Given the description of an element on the screen output the (x, y) to click on. 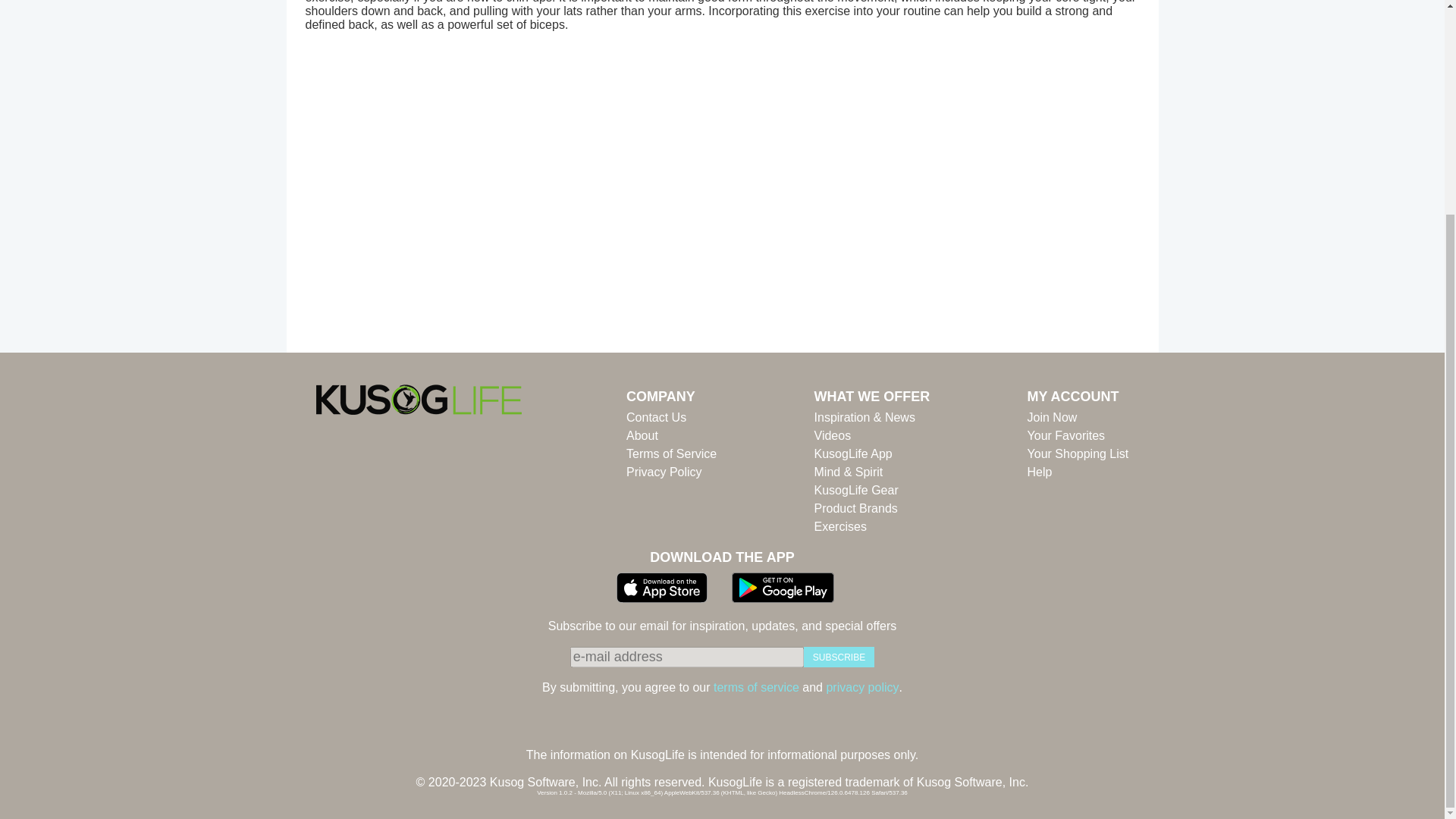
Your Favorites (1078, 435)
Help (1078, 472)
Product Brands (871, 508)
Privacy Policy (671, 472)
Exercises (871, 526)
Join Now (1078, 417)
terms of service (756, 687)
Your Shopping List (1078, 454)
privacy policy (861, 687)
About (671, 435)
Videos (871, 435)
SUBSCRIBE (839, 657)
Contact Us (671, 417)
KusogLife Gear (871, 490)
Terms of Service (671, 454)
